Given the description of an element on the screen output the (x, y) to click on. 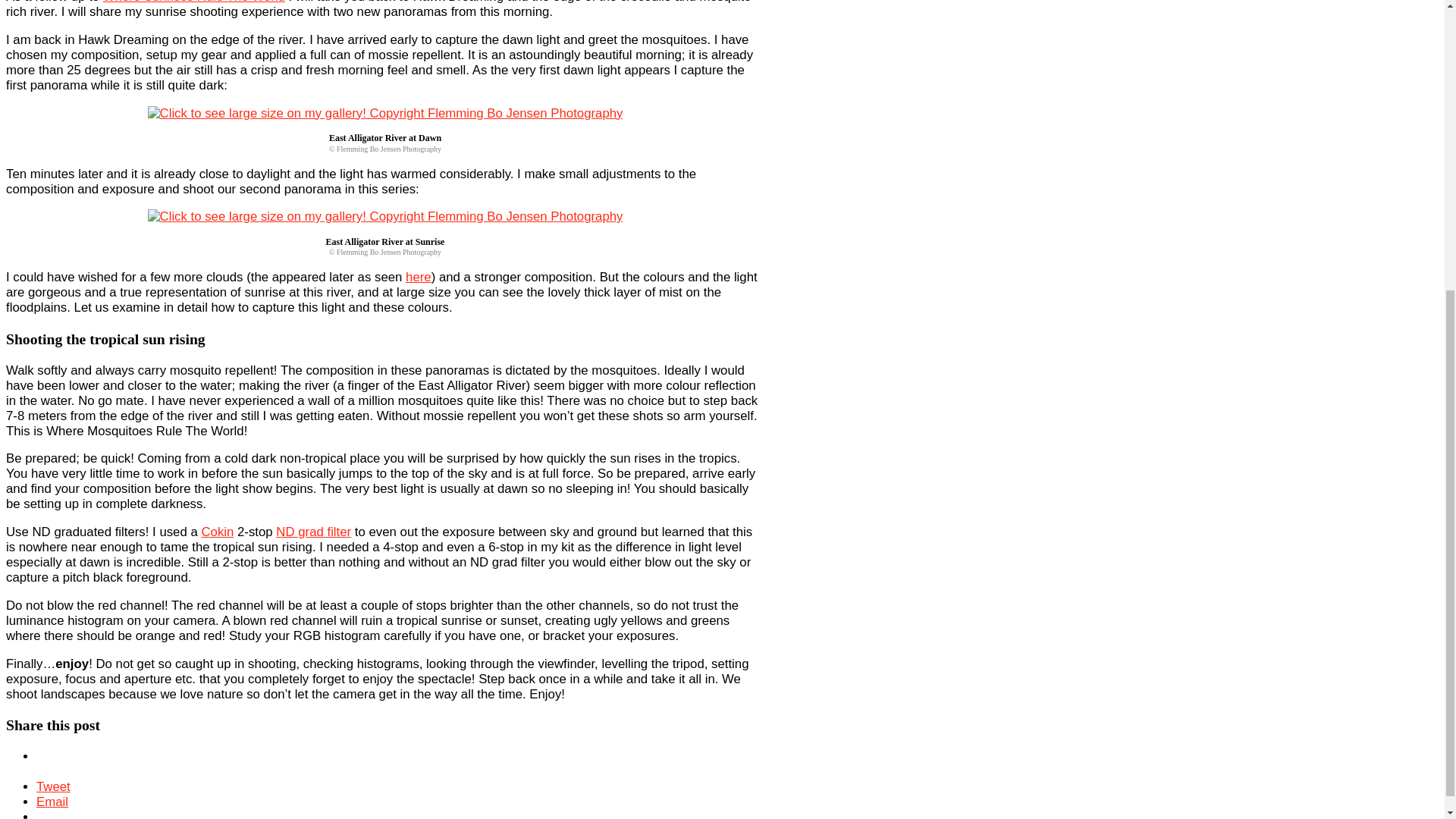
Where Sunrises Rule The World (194, 2)
Email (52, 801)
here (418, 277)
ND grad filter (313, 531)
Tweet (52, 786)
Click to email a link to a friend (52, 801)
Cokin (216, 531)
